Given the description of an element on the screen output the (x, y) to click on. 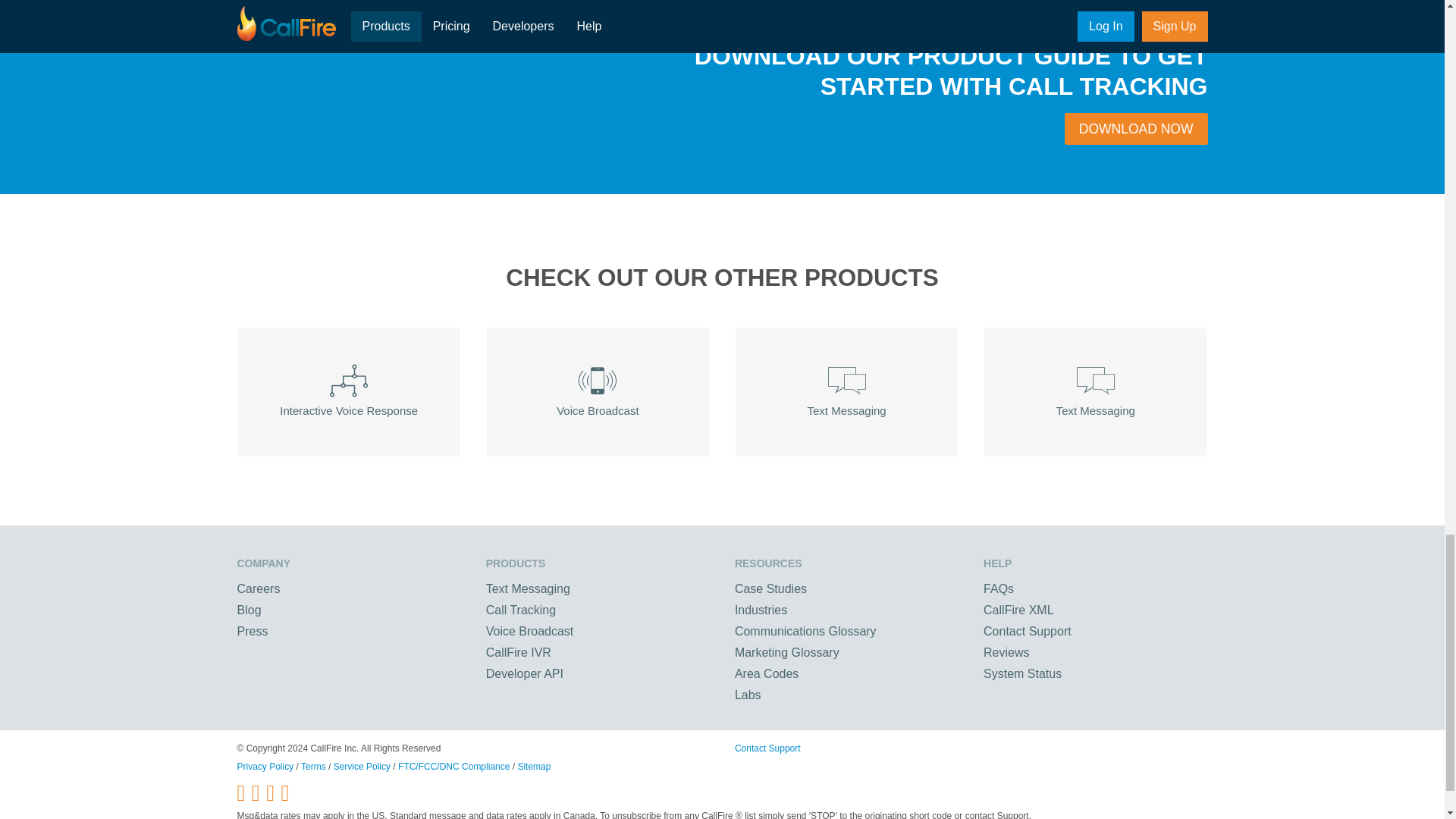
Voice Broadcast (529, 630)
Text Messaging (846, 391)
Interactive Voice Response (347, 391)
Call Tracking (521, 608)
Case Studies (770, 587)
Labs (748, 694)
Contact Support (1027, 630)
Industries (761, 608)
Careers (257, 587)
DOWNLOAD NOW (1136, 128)
